Given the description of an element on the screen output the (x, y) to click on. 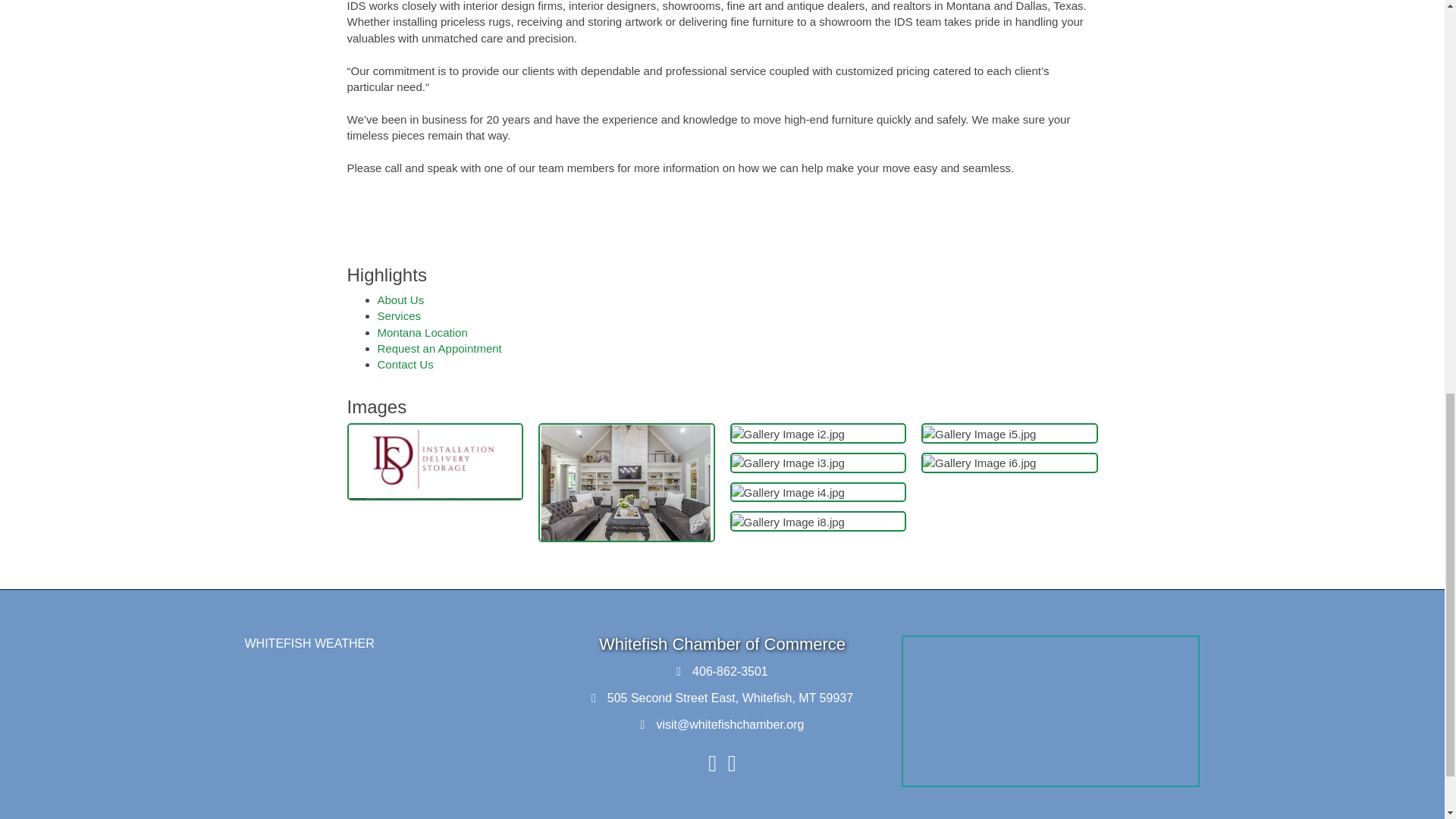
Gallery Image i4.jpg (787, 492)
Gallery Image i1.jpg (626, 482)
Gallery Image i2.jpg (787, 433)
Gallery Image i3.jpg (787, 462)
Gallery Image ids.jpg (435, 461)
